Given the description of an element on the screen output the (x, y) to click on. 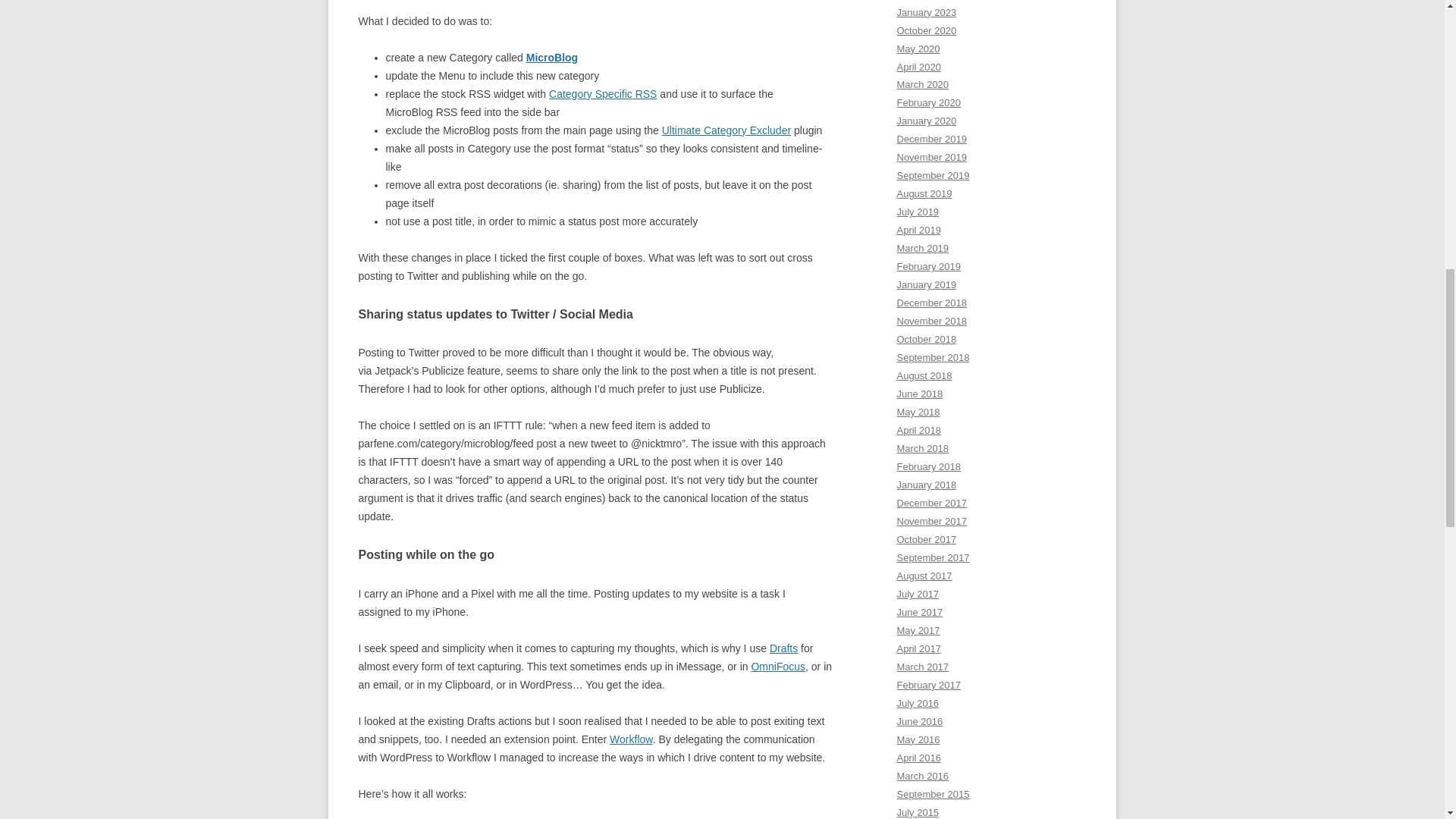
Ultimate Category Excluder (726, 130)
Category Specific RSS (602, 93)
OmniFocus (778, 666)
Drafts (783, 648)
Workflow (631, 739)
MicroBlog (551, 57)
